Given the description of an element on the screen output the (x, y) to click on. 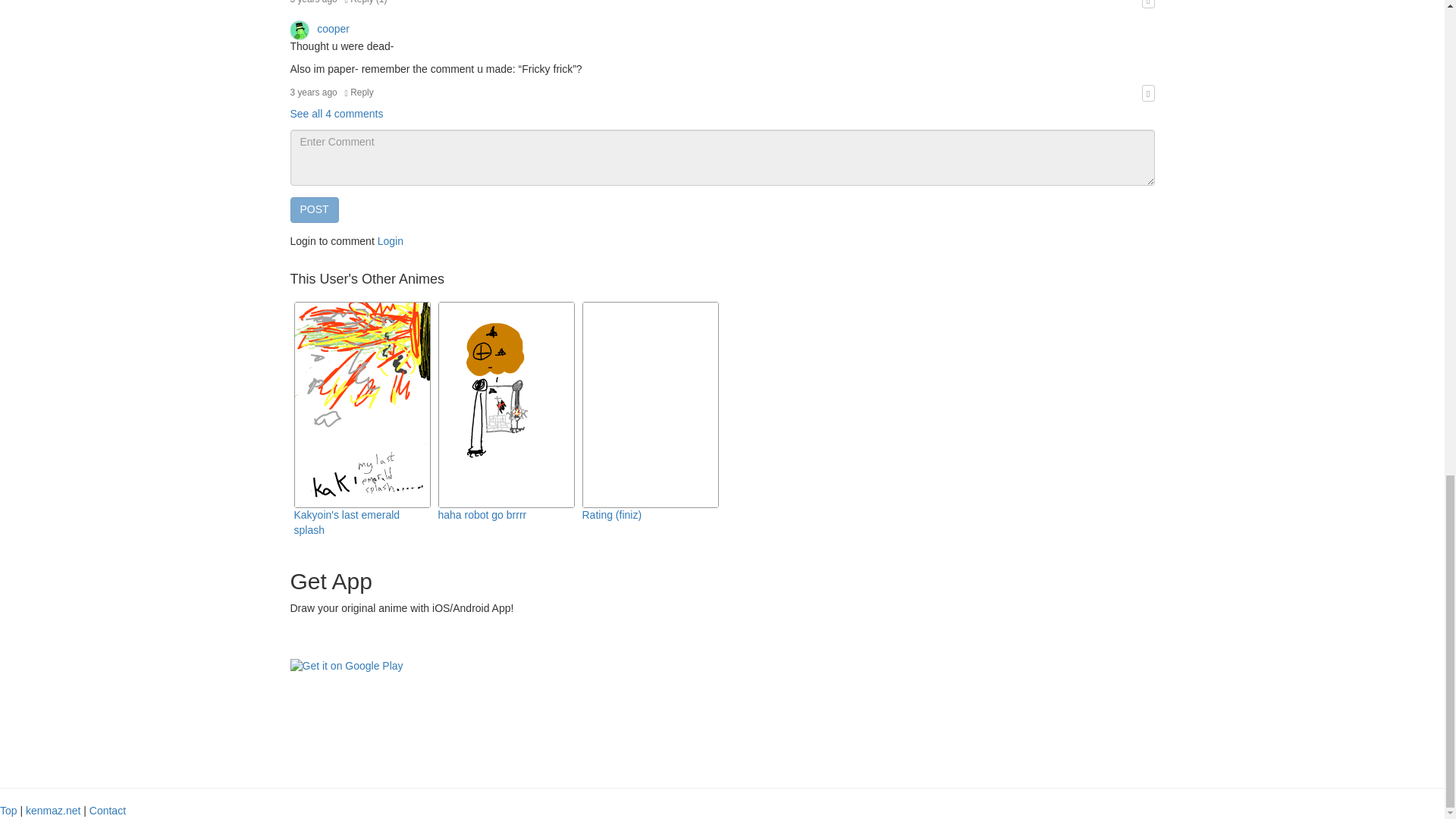
See all 4 comments (335, 113)
POST (313, 209)
Kakyoin's last emerald splash (347, 522)
Top (8, 810)
Login (390, 241)
  cooper (319, 28)
Reply (359, 91)
haha robot go brrrr (482, 514)
POST (313, 209)
